Given the description of an element on the screen output the (x, y) to click on. 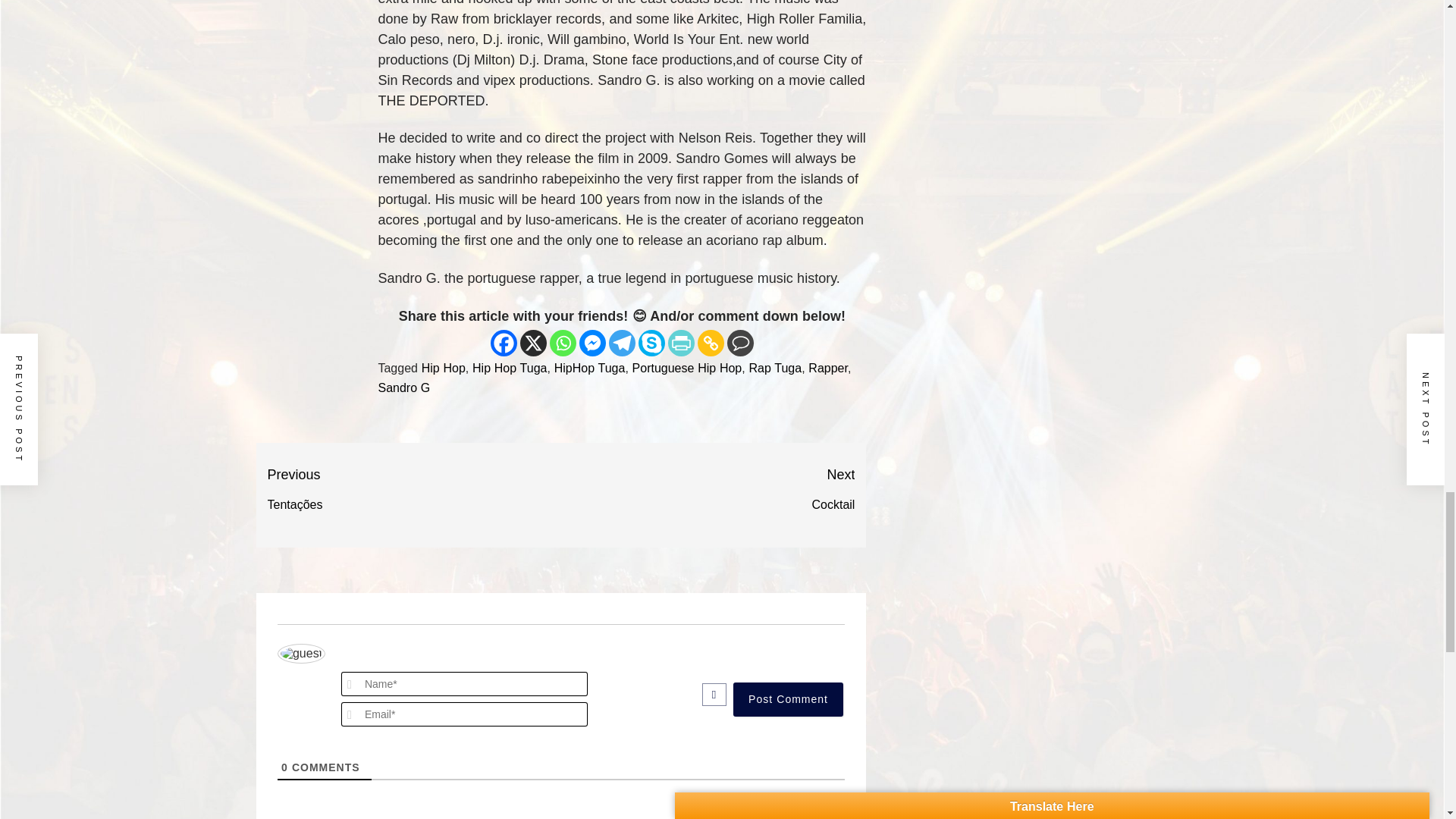
HipHop Tuga (590, 367)
Whatsapp (707, 489)
Rap Tuga (563, 343)
Hip Hop Tuga (775, 367)
Hip Hop (509, 367)
comment (443, 367)
Facebook (740, 343)
Post Comment (503, 343)
Rapper (788, 699)
